Given the description of an element on the screen output the (x, y) to click on. 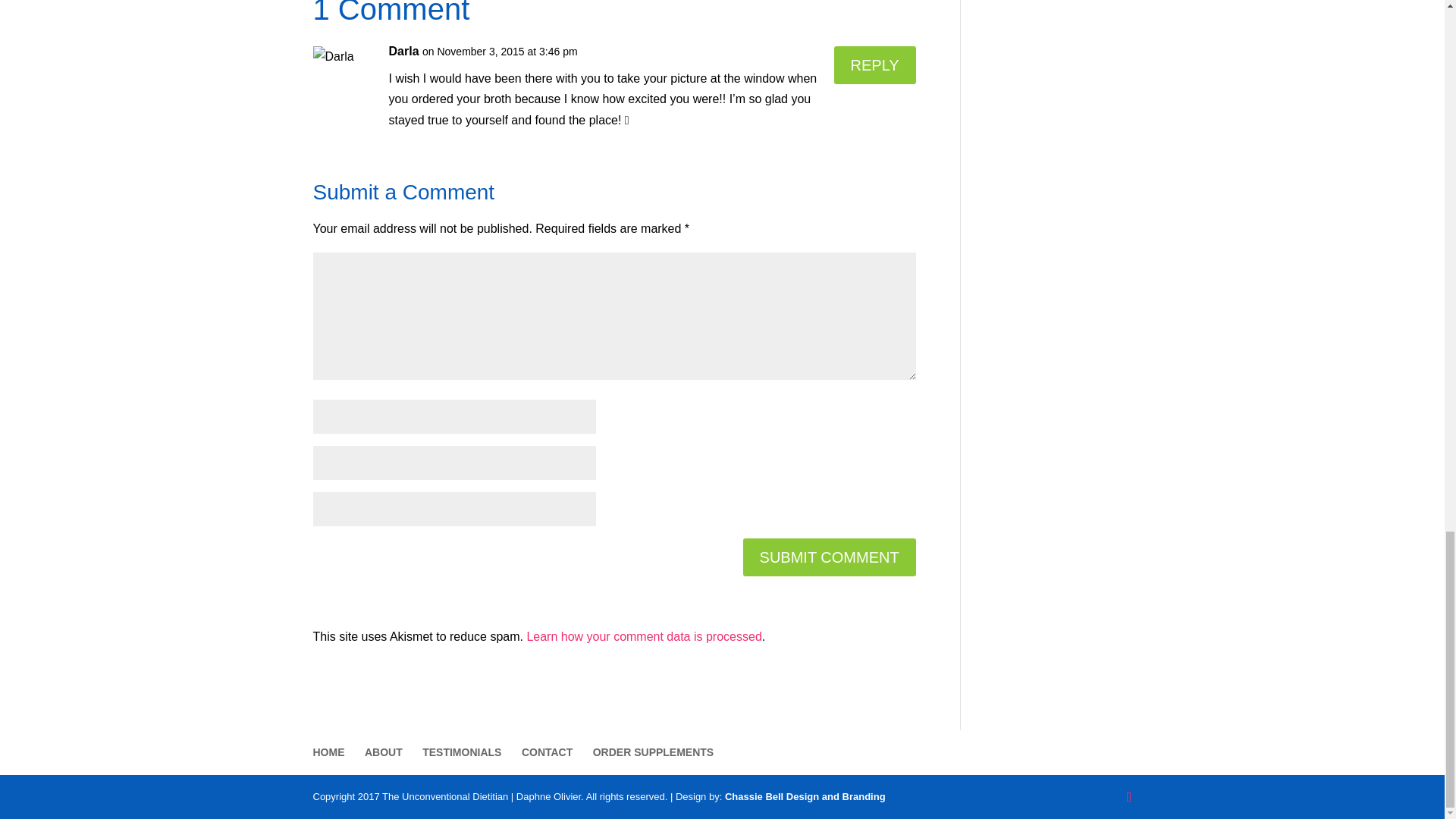
Submit Comment (828, 557)
REPLY (874, 64)
Submit Comment (828, 557)
